Given the description of an element on the screen output the (x, y) to click on. 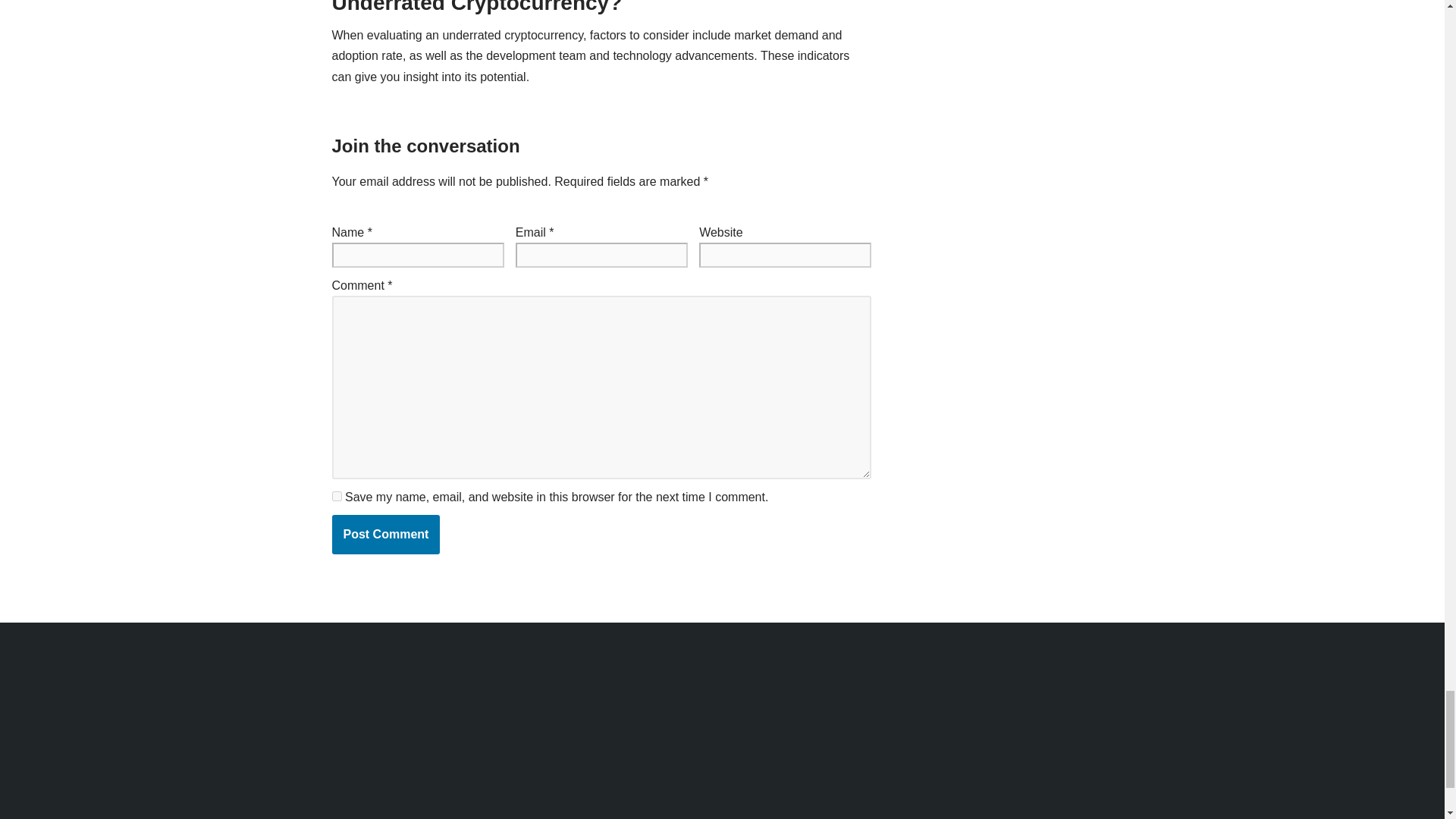
Post Comment (386, 534)
Post Comment (386, 534)
yes (336, 496)
